Given the description of an element on the screen output the (x, y) to click on. 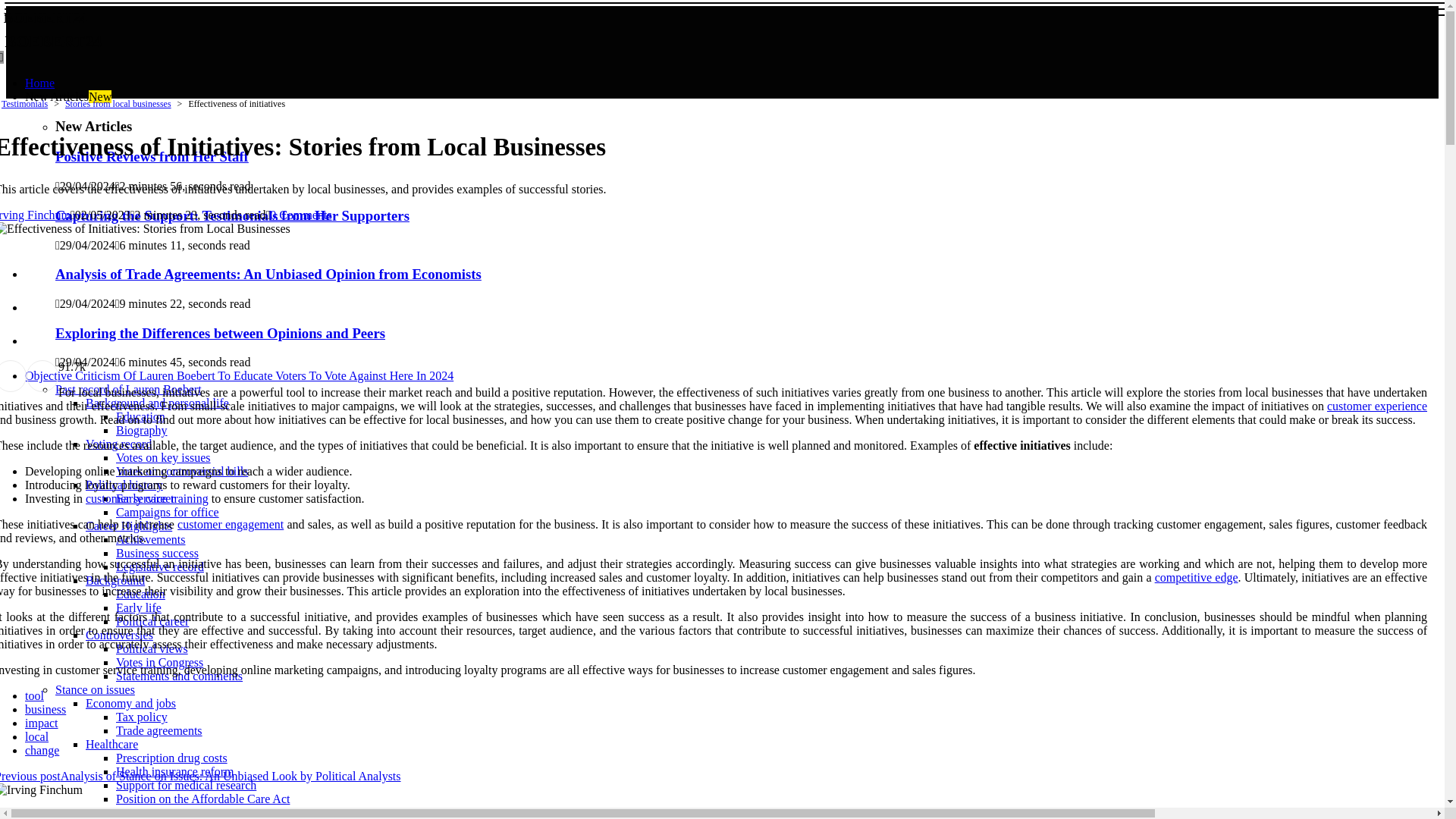
Trade agreements (159, 730)
Statements and comments (179, 675)
Background (114, 580)
Voting record (118, 443)
Campaigns for office (167, 512)
Biography (141, 430)
Political history (124, 484)
Early life (138, 607)
Education (140, 594)
